Given the description of an element on the screen output the (x, y) to click on. 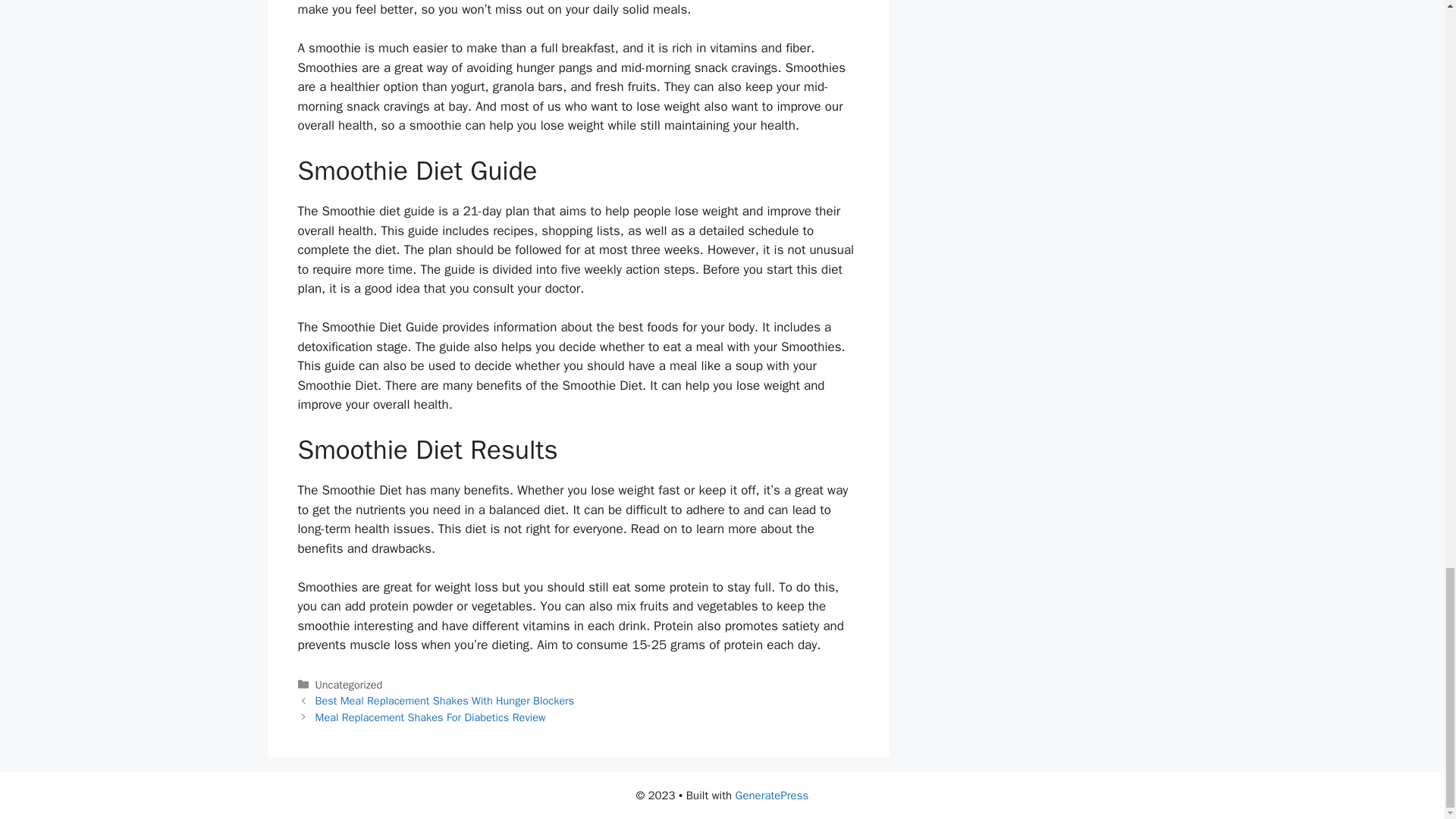
Best Meal Replacement Shakes With Hunger Blockers (445, 700)
GeneratePress (772, 795)
Meal Replacement Shakes For Diabetics Review (430, 716)
